Given the description of an element on the screen output the (x, y) to click on. 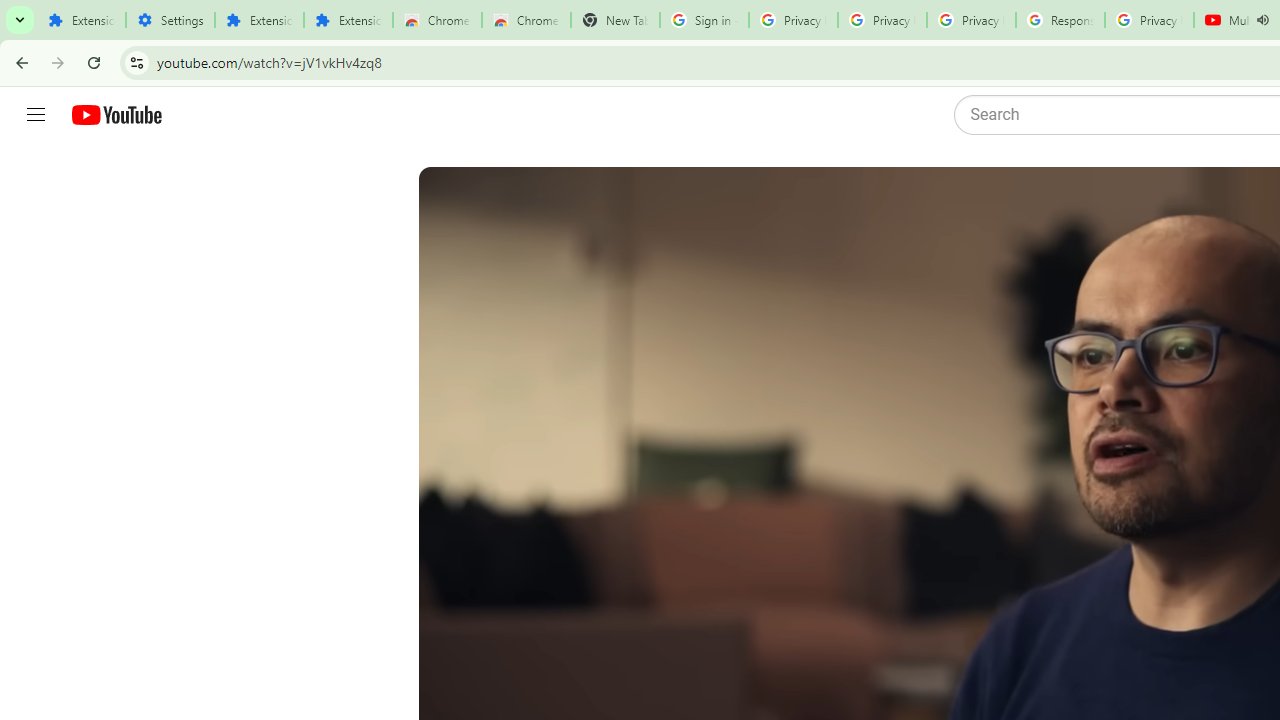
Chrome Web Store - Themes (526, 20)
Extensions (347, 20)
Guide (35, 115)
Extensions (81, 20)
YouTube Home (116, 115)
